Given the description of an element on the screen output the (x, y) to click on. 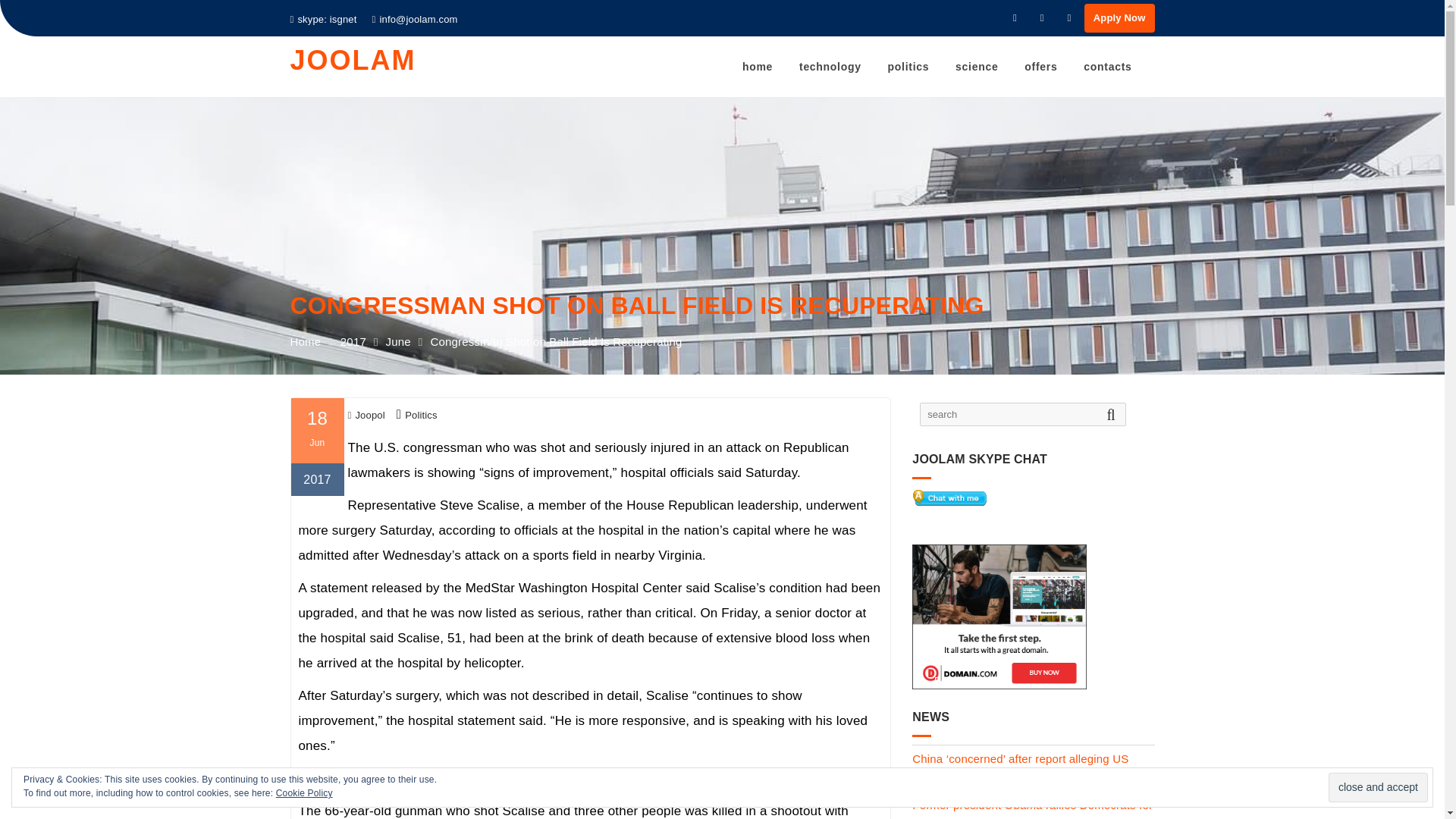
Home (304, 368)
Joopol (365, 419)
Twitter (1041, 17)
Apply Now (1119, 18)
science (976, 66)
Facebook (1014, 17)
Politics (421, 419)
JOOLAM (351, 60)
contacts (1106, 66)
offers (1040, 66)
